Given the description of an element on the screen output the (x, y) to click on. 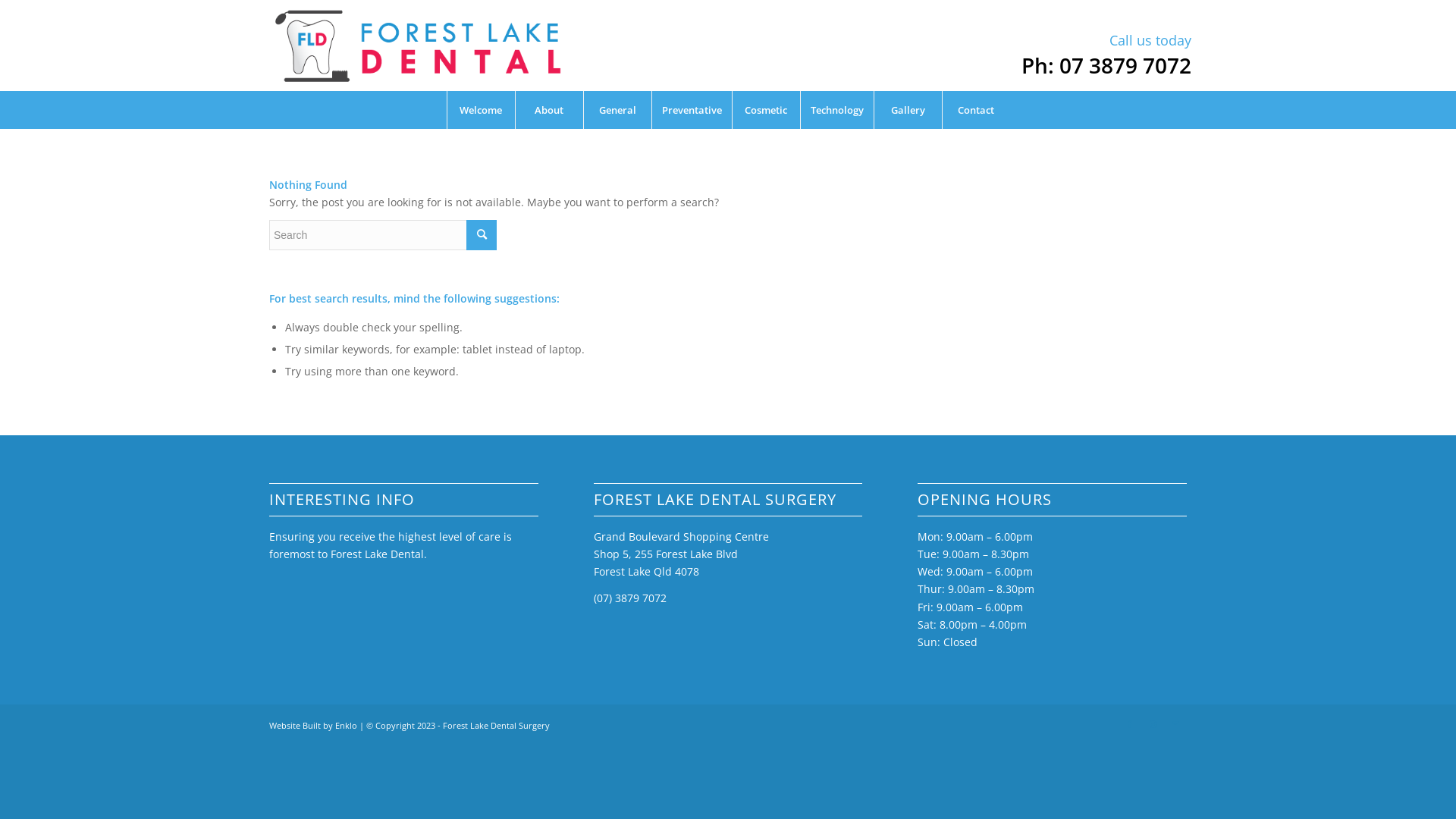
Technology Element type: text (835, 109)
Contact Element type: text (975, 109)
About Element type: text (548, 109)
General Element type: text (616, 109)
Facebook Element type: hover (1129, 723)
Welcome Element type: text (479, 109)
Instagram Element type: hover (1152, 723)
Mail Element type: hover (1175, 723)
FLDENTAL-LOGO Element type: hover (417, 45)
Cosmetic Element type: text (765, 109)
Gallery Element type: text (907, 109)
Ph: 07 3879 7072 Element type: text (1106, 64)
Preventative Element type: text (690, 109)
Website Built by Enklo Element type: text (313, 725)
